Given the description of an element on the screen output the (x, y) to click on. 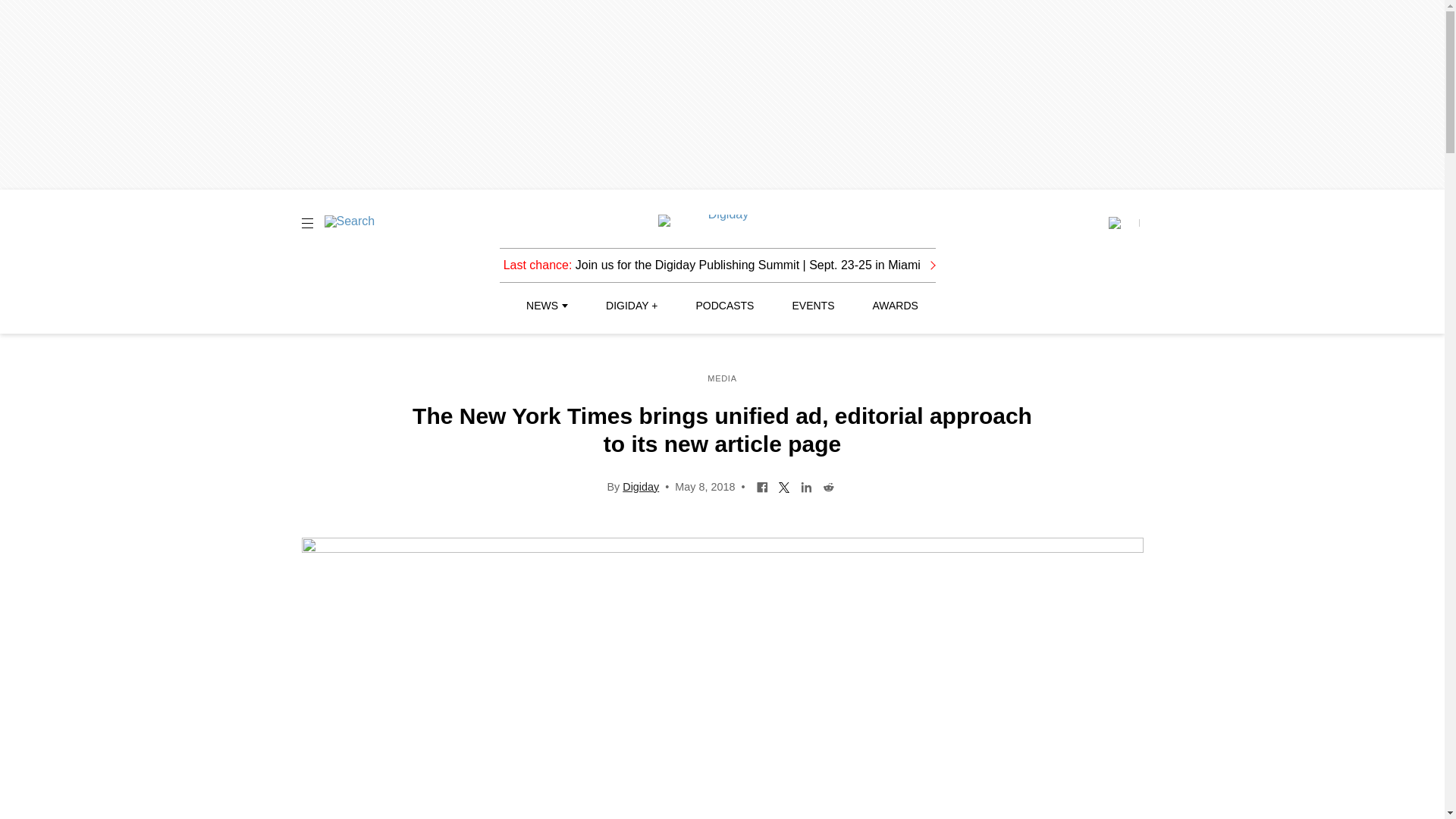
Share on Twitter (783, 485)
EVENTS (813, 305)
NEWS (546, 305)
AWARDS (894, 305)
Share on LinkedIn (805, 485)
Share on Facebook (761, 485)
PODCASTS (725, 305)
Subscribe (1123, 223)
Share on Reddit (828, 485)
